Given the description of an element on the screen output the (x, y) to click on. 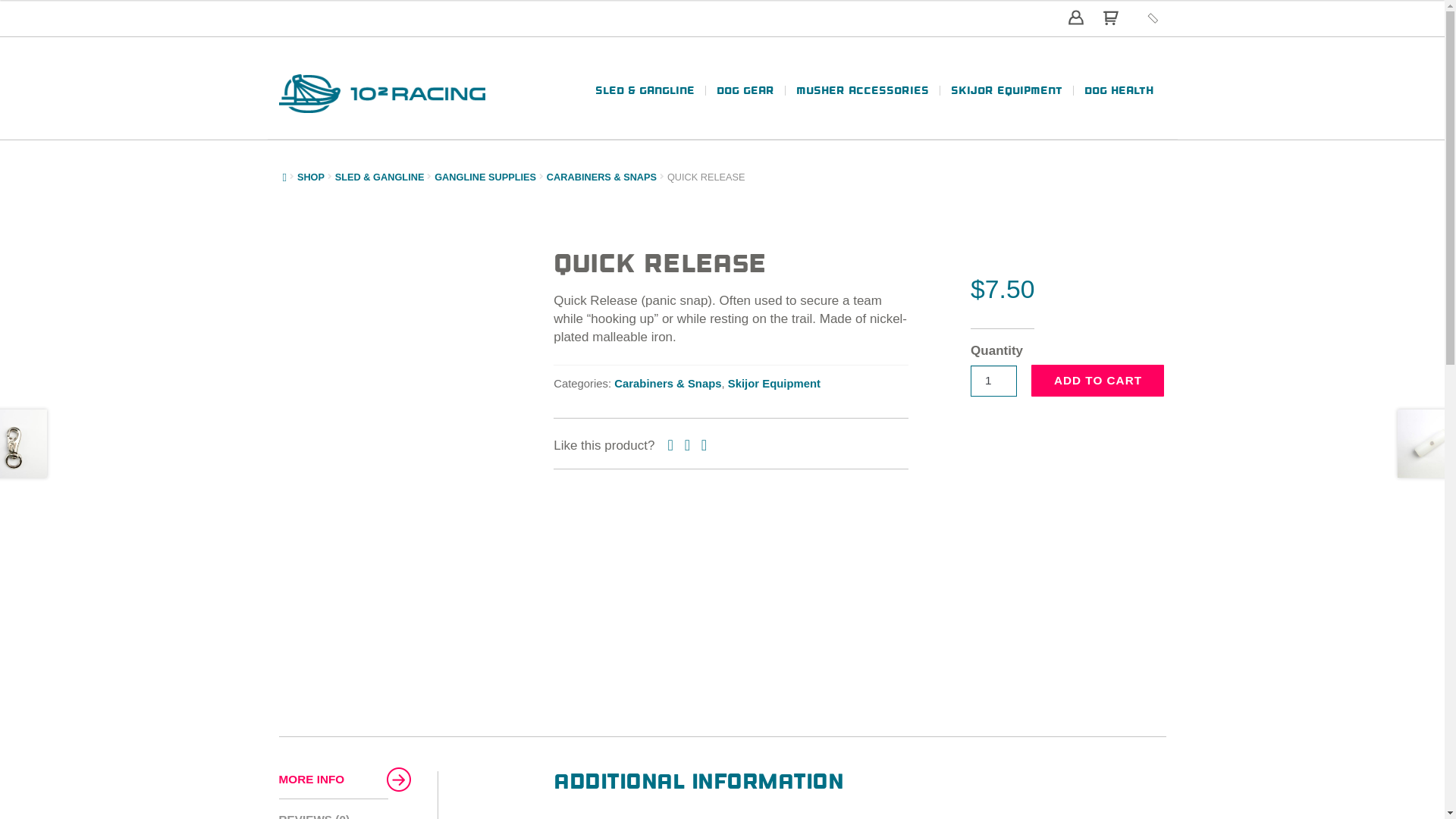
GANGLINE SUPPLIES Element type: text (485, 176)
MUSHER ACCESSORIES Element type: text (861, 95)
Skip to navigation Element type: text (277, 73)
ADD TO CART Element type: text (1097, 380)
DOG GEAR Element type: text (744, 95)
Carabiners & Snaps Element type: text (667, 383)
DOG HEALTH Element type: text (1112, 95)
MORE INFO Element type: text (333, 785)
CARABINERS & SNAPS Element type: text (601, 176)
SHOP Element type: text (310, 176)
SLED & GANGLINE Element type: text (650, 95)
Skijor Equipment Element type: text (774, 383)
Share on Facebook. Element type: hover (671, 444)
Qty Element type: hover (993, 380)
SLED & GANGLINE Element type: text (379, 176)
Search Element type: hover (1152, 8)
Tweet this! Element type: hover (686, 444)
Login / Register Element type: hover (1076, 10)
SKIJOR EQUIPMENT Element type: text (1006, 95)
View your shopping cart Element type: hover (1102, 20)
